Given the description of an element on the screen output the (x, y) to click on. 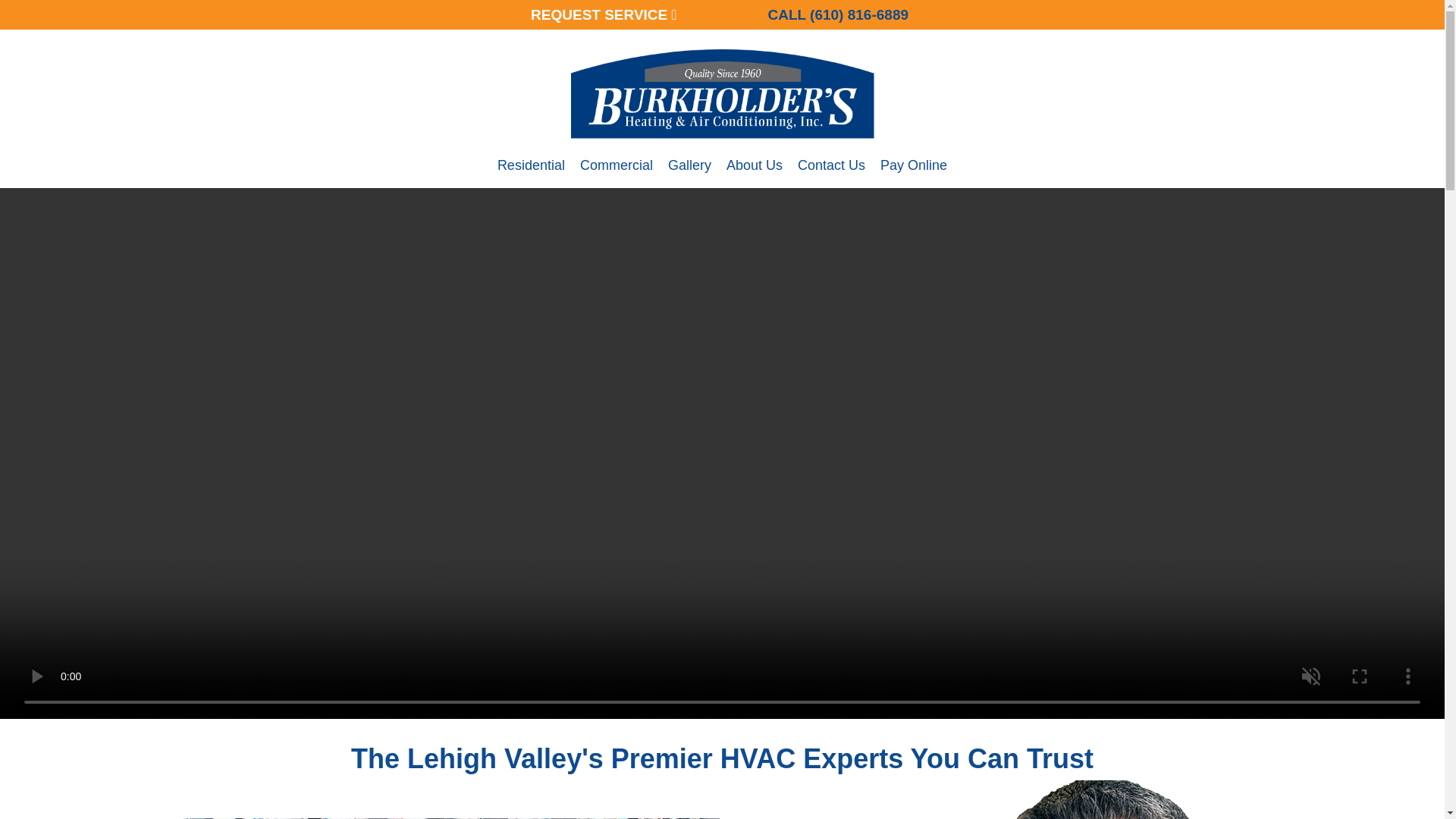
Gallery (690, 173)
About Us (754, 173)
Pay Online (913, 173)
Residential (530, 173)
Commercial (616, 173)
Contact Us (831, 173)
